Given the description of an element on the screen output the (x, y) to click on. 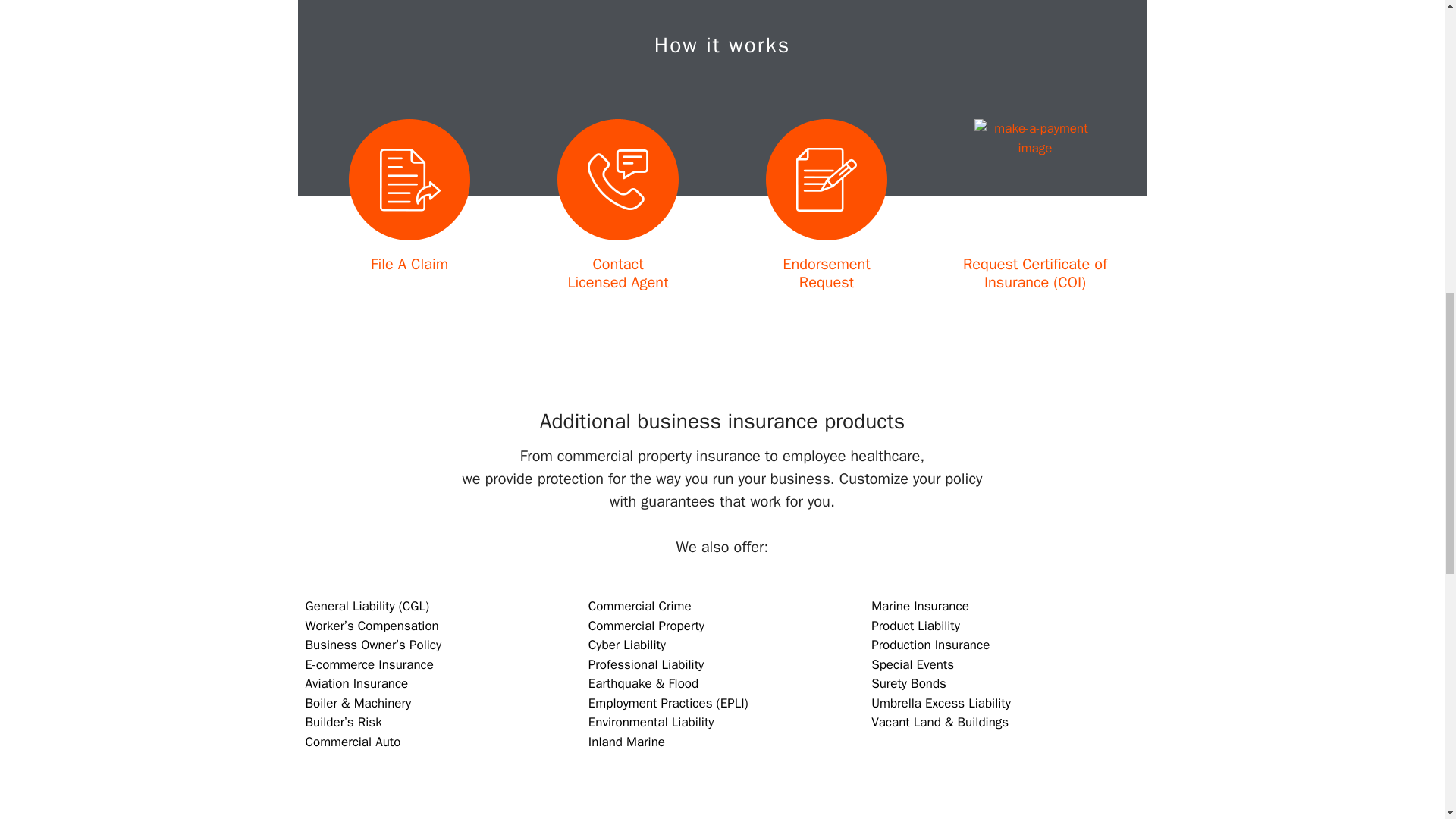
E-commerce Insurance (368, 664)
File A Claim (409, 263)
Aviation Insurance (355, 683)
Commercial Auto (352, 741)
Commercial Crime (826, 272)
